Given the description of an element on the screen output the (x, y) to click on. 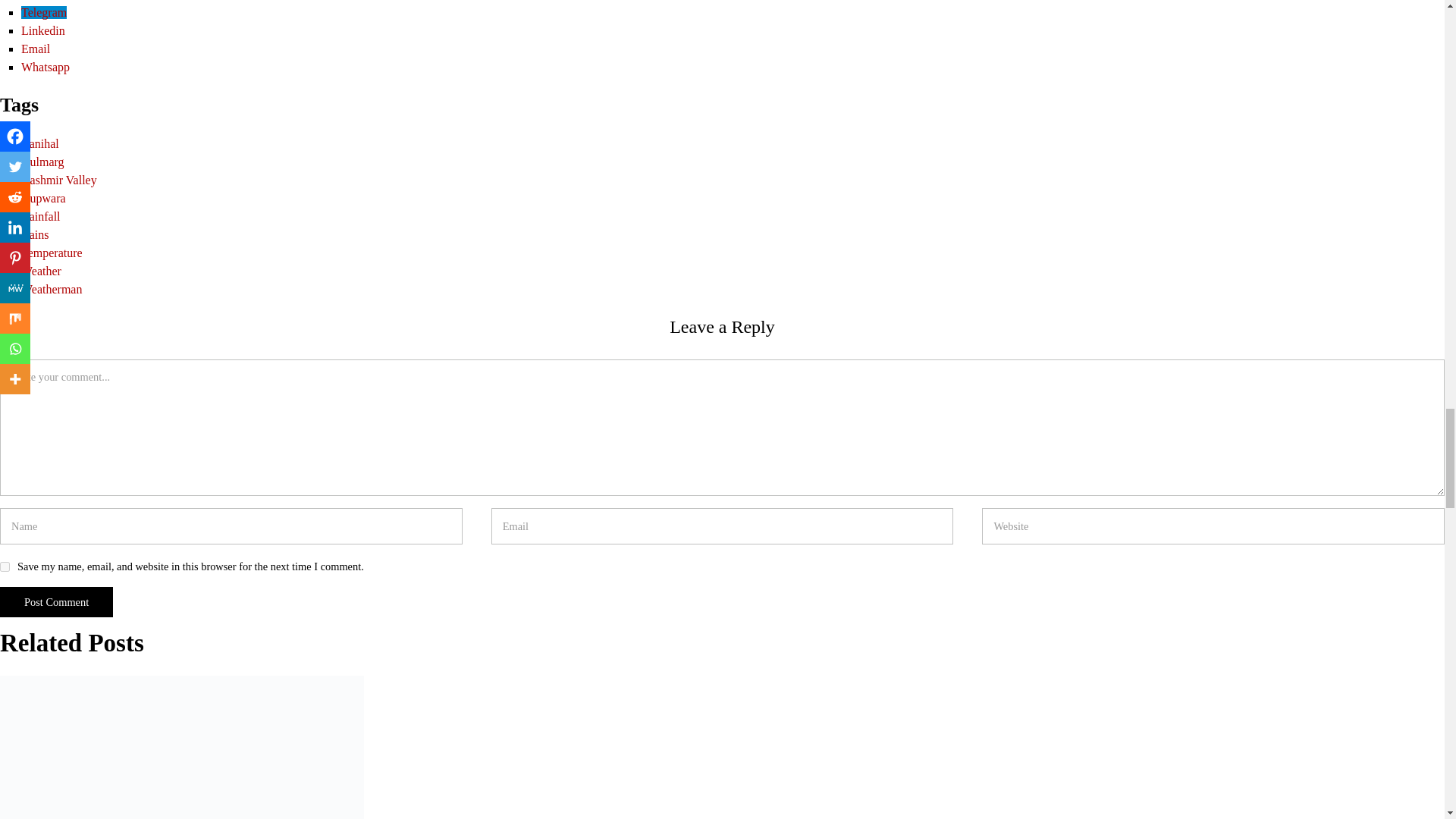
yes (5, 566)
Post Comment (56, 602)
Whatsapp (45, 66)
Telegram (43, 11)
Email (35, 48)
Pinterest (42, 0)
Banihal (40, 143)
Linkedin (43, 30)
